Given the description of an element on the screen output the (x, y) to click on. 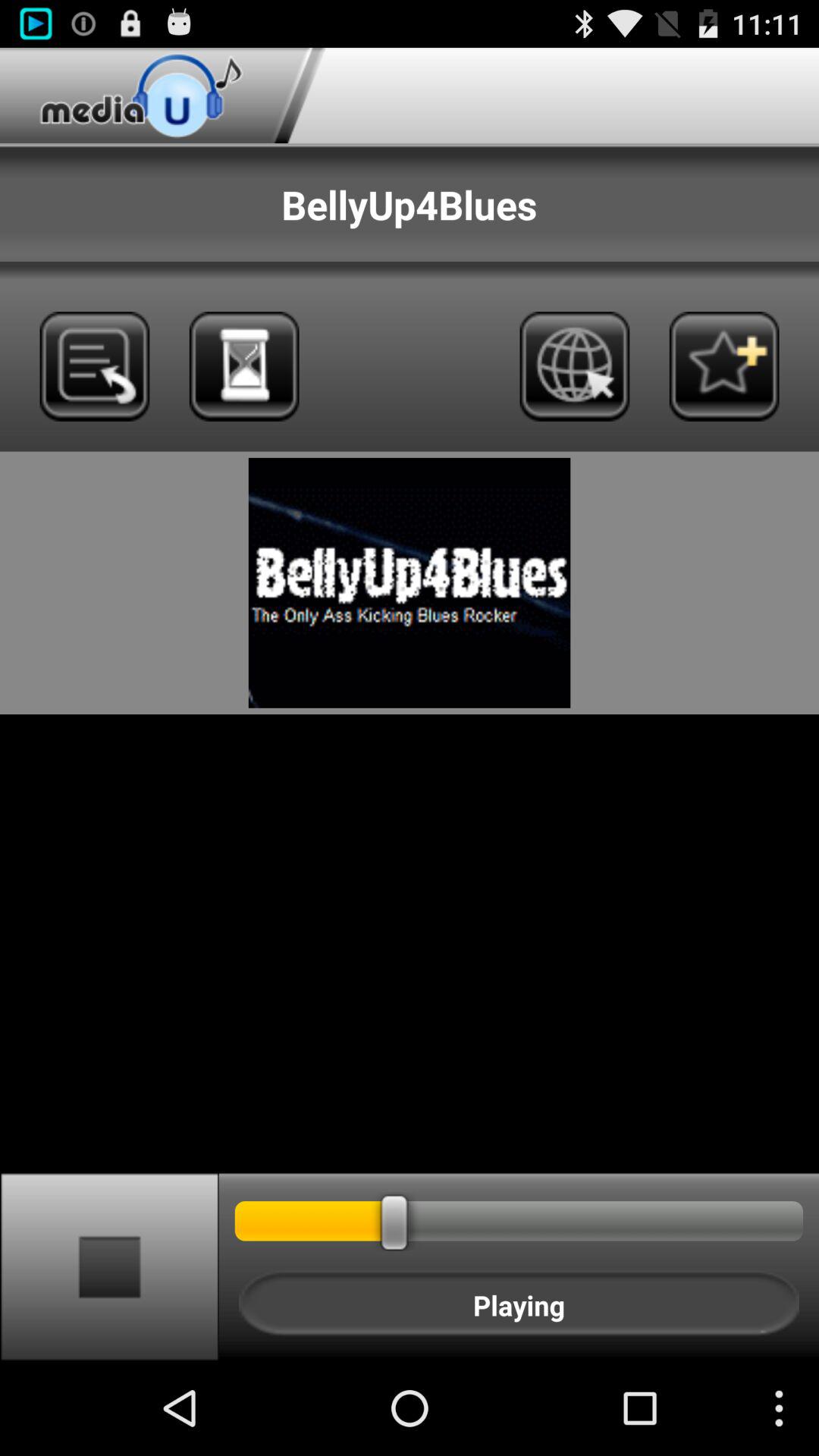
set timer (244, 366)
